Given the description of an element on the screen output the (x, y) to click on. 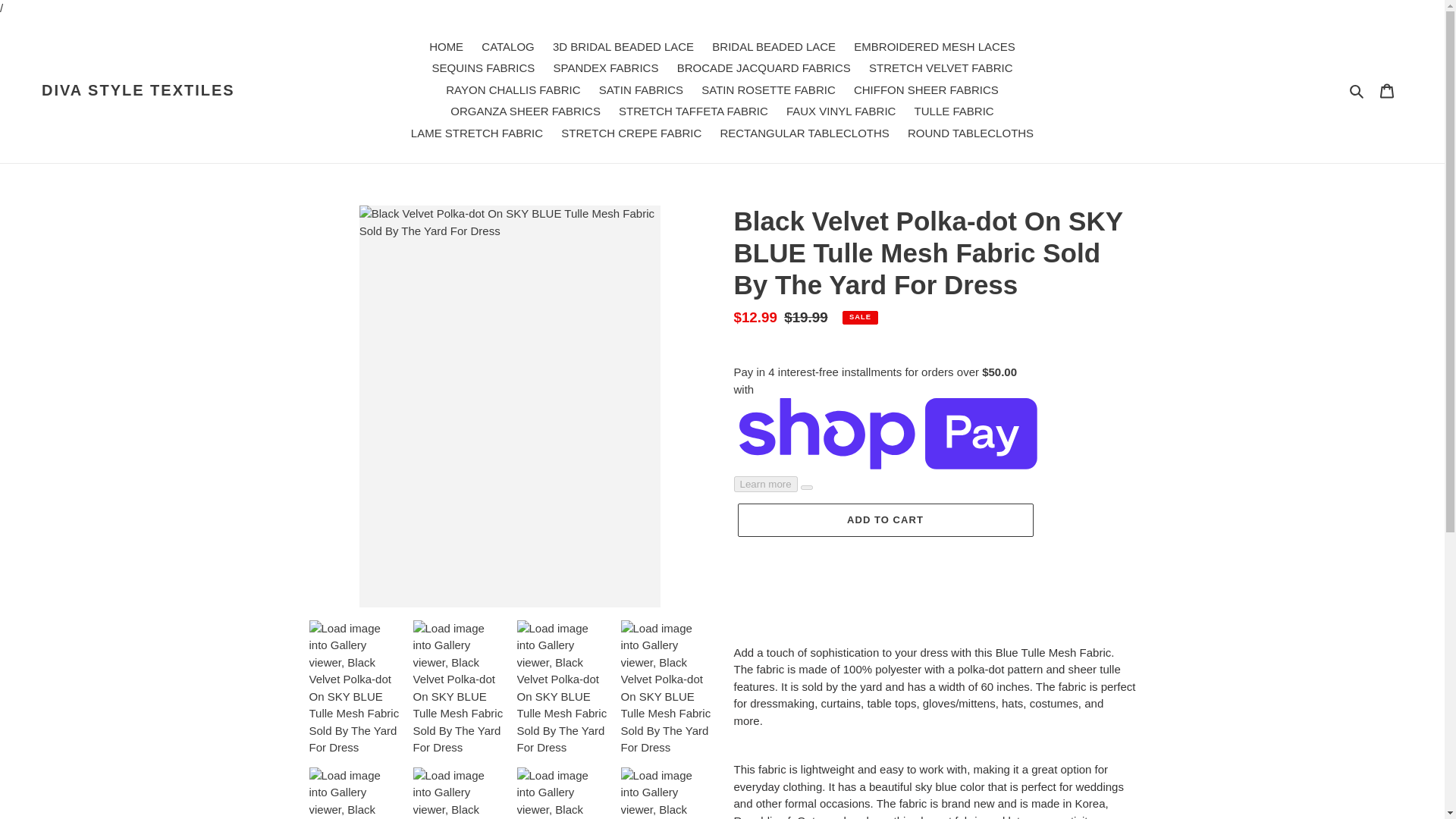
STRETCH TAFFETA FABRIC (693, 111)
STRETCH CREPE FABRIC (631, 133)
SEQUINS FABRICS (482, 68)
BROCADE JACQUARD FABRICS (764, 68)
ROUND TABLECLOTHS (970, 133)
Search (1357, 89)
TULLE FABRIC (954, 111)
SPANDEX FABRICS (606, 68)
CHIFFON SHEER FABRICS (925, 89)
SATIN ROSETTE FABRIC (768, 89)
